Given the description of an element on the screen output the (x, y) to click on. 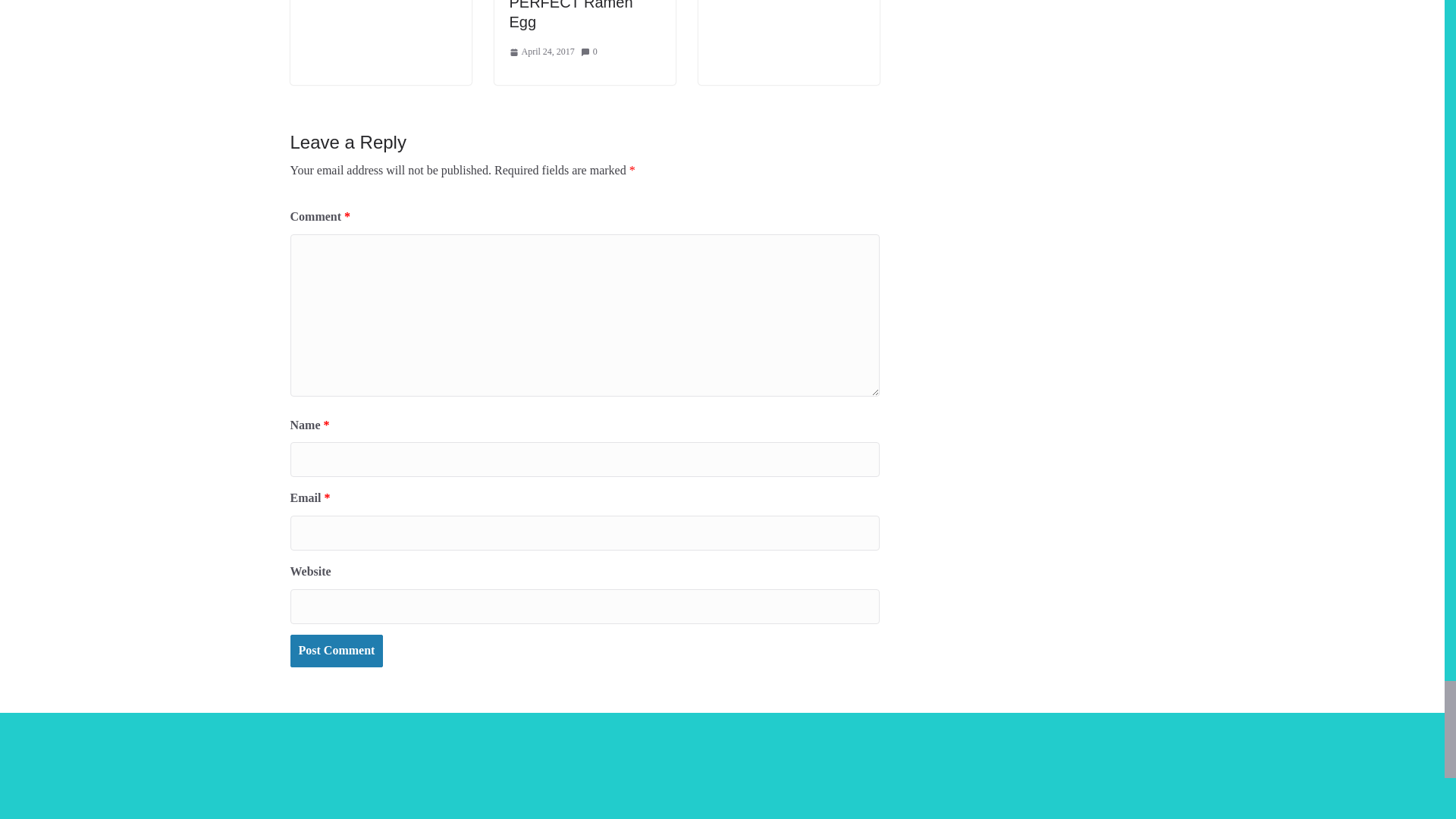
5:23 pm (542, 52)
How to Make the PERFECT Ramen Egg (571, 15)
Post Comment (335, 650)
